Given the description of an element on the screen output the (x, y) to click on. 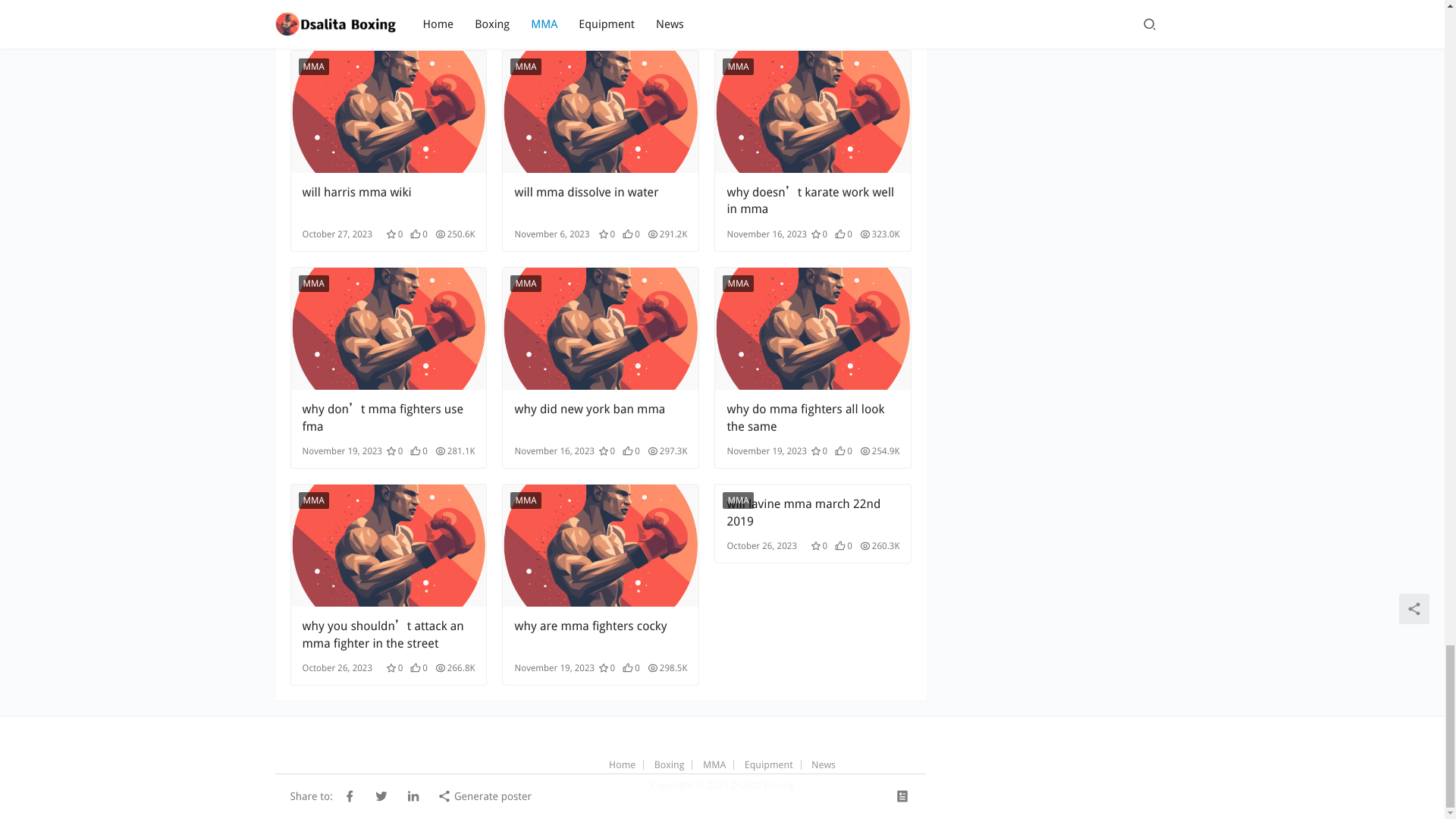
will mma dissolve in water (600, 200)
MMA (313, 283)
will mma dissolve in water (600, 111)
why did new york ban mma (600, 328)
MMA (313, 66)
will harris mma wiki (387, 200)
MMA (525, 66)
why did new york ban mma (600, 417)
MMA (737, 66)
will harris mma wiki (387, 200)
will harris mma wiki (388, 111)
